Given the description of an element on the screen output the (x, y) to click on. 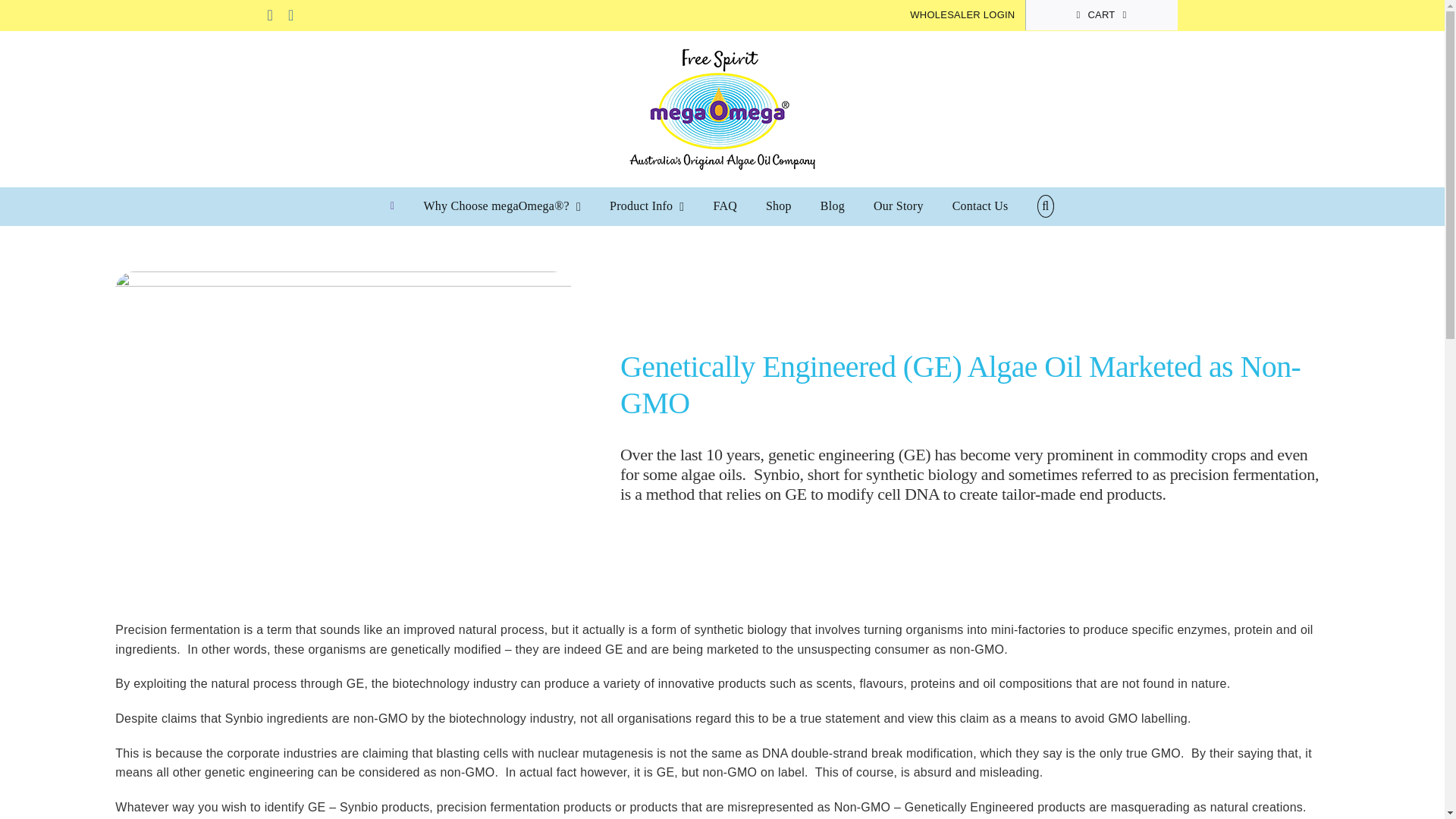
Our Story (898, 206)
WHOLESALER LOGIN (962, 15)
CART (1100, 15)
Contact Us (980, 206)
Product Info (647, 206)
